Given the description of an element on the screen output the (x, y) to click on. 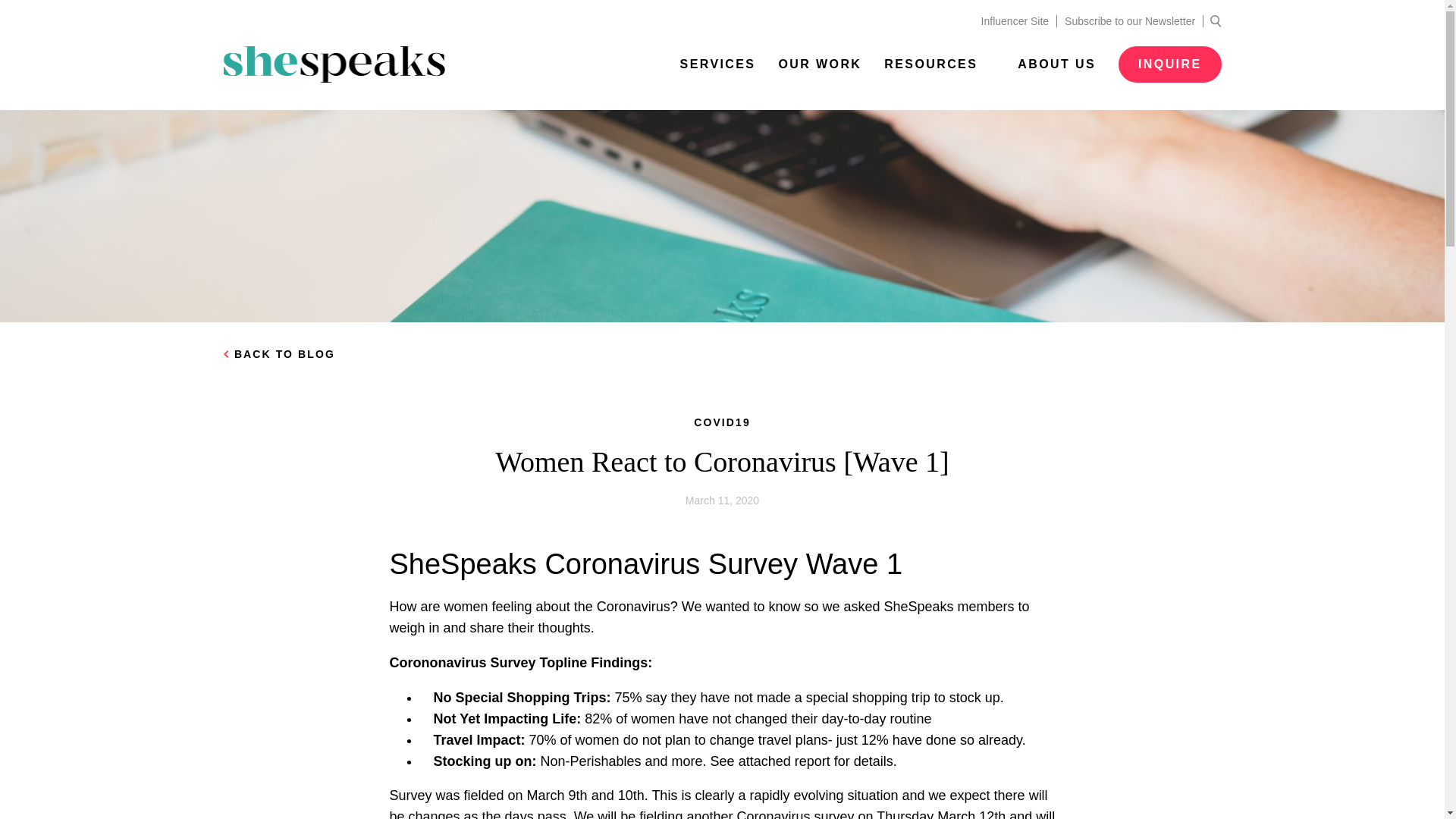
Subscribe to our Newsletter (1130, 21)
Influencer Site (1016, 21)
ABOUT US (1056, 63)
RESOURCES (938, 63)
INQUIRE (1169, 63)
OUR WORK (819, 63)
BACK TO BLOG (721, 354)
SERVICES (717, 63)
